Given the description of an element on the screen output the (x, y) to click on. 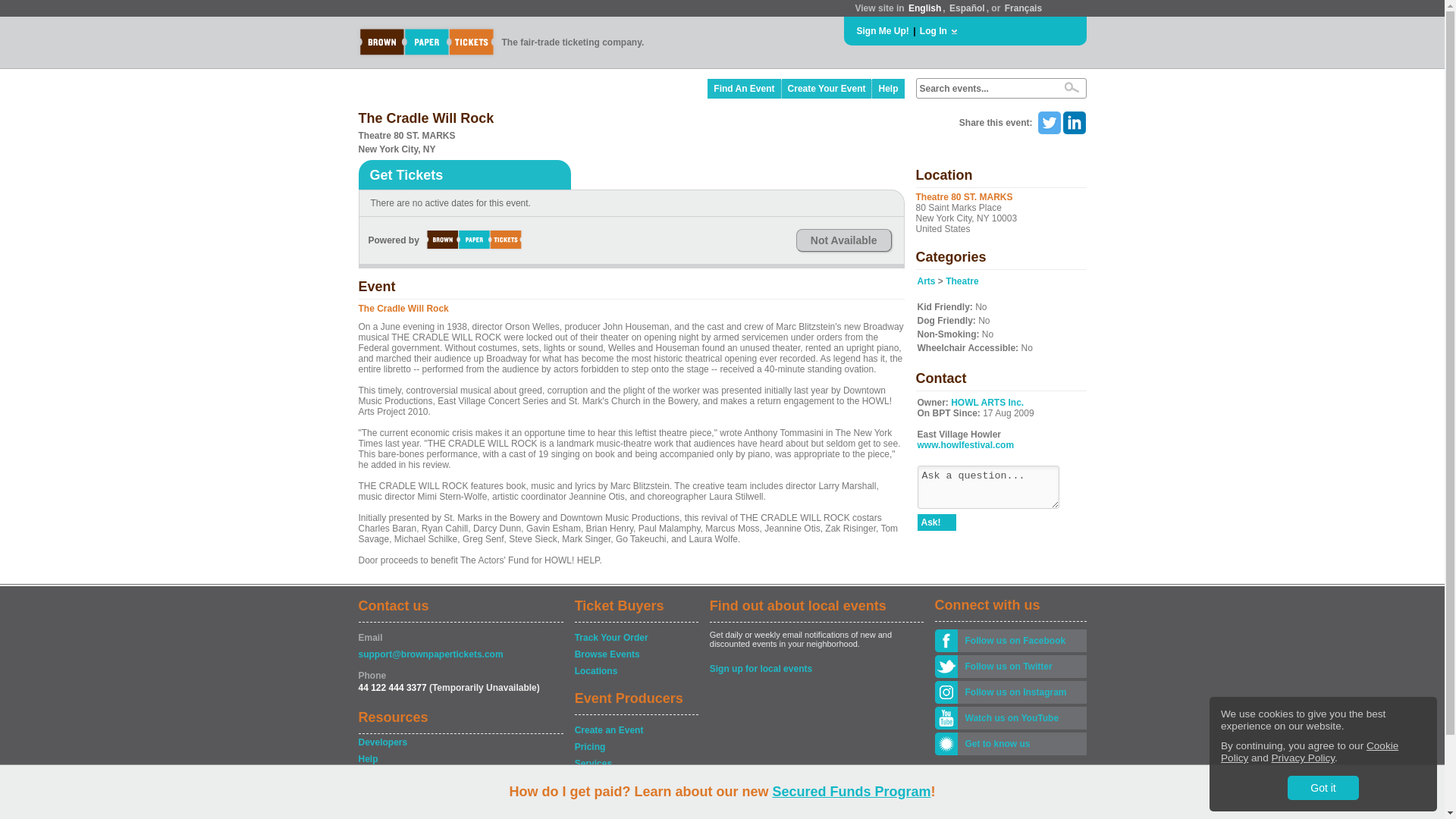
Developers (460, 742)
Sign Me Up! (883, 30)
www.howlfestival.com (965, 444)
Help (460, 758)
Track Your Order (636, 637)
Pricing (636, 746)
Locations (636, 670)
Secured Funds Program (850, 791)
English (924, 8)
Sign up for local events (816, 668)
Create Your Event (826, 88)
Buy Pre-Printed Tickets (636, 780)
Cookie Policy (1309, 751)
HOWL ARTS Inc. (986, 402)
Services (636, 763)
